Given the description of an element on the screen output the (x, y) to click on. 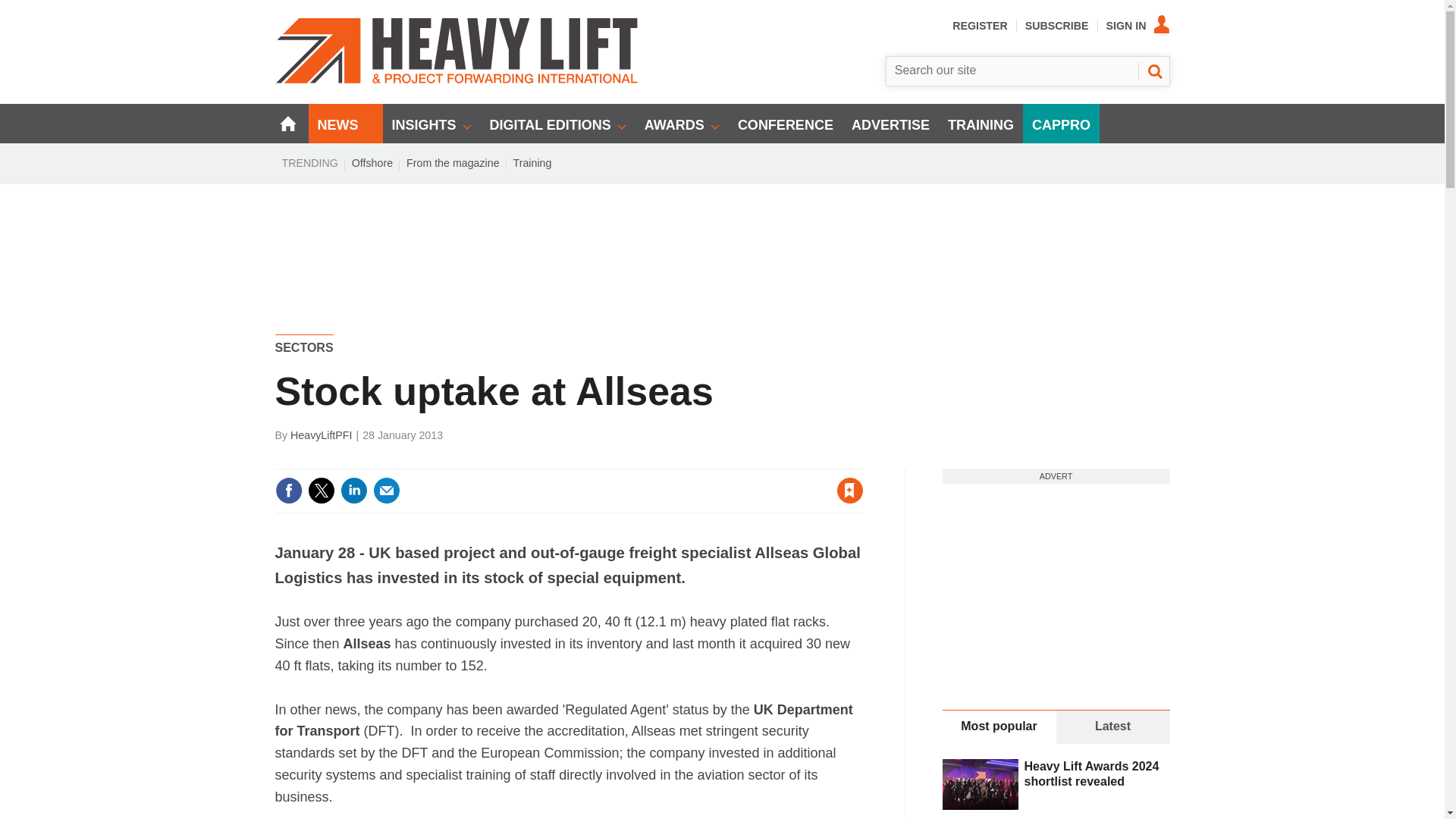
Share this on Linked in (352, 490)
SEARCH (1153, 70)
SIGN IN (1138, 25)
Training (532, 162)
REGISTER (979, 25)
Email this article (386, 490)
Offshore (371, 162)
Share this on Facebook (288, 490)
SUBSCRIBE (1057, 25)
From the magazine (452, 162)
